Given the description of an element on the screen output the (x, y) to click on. 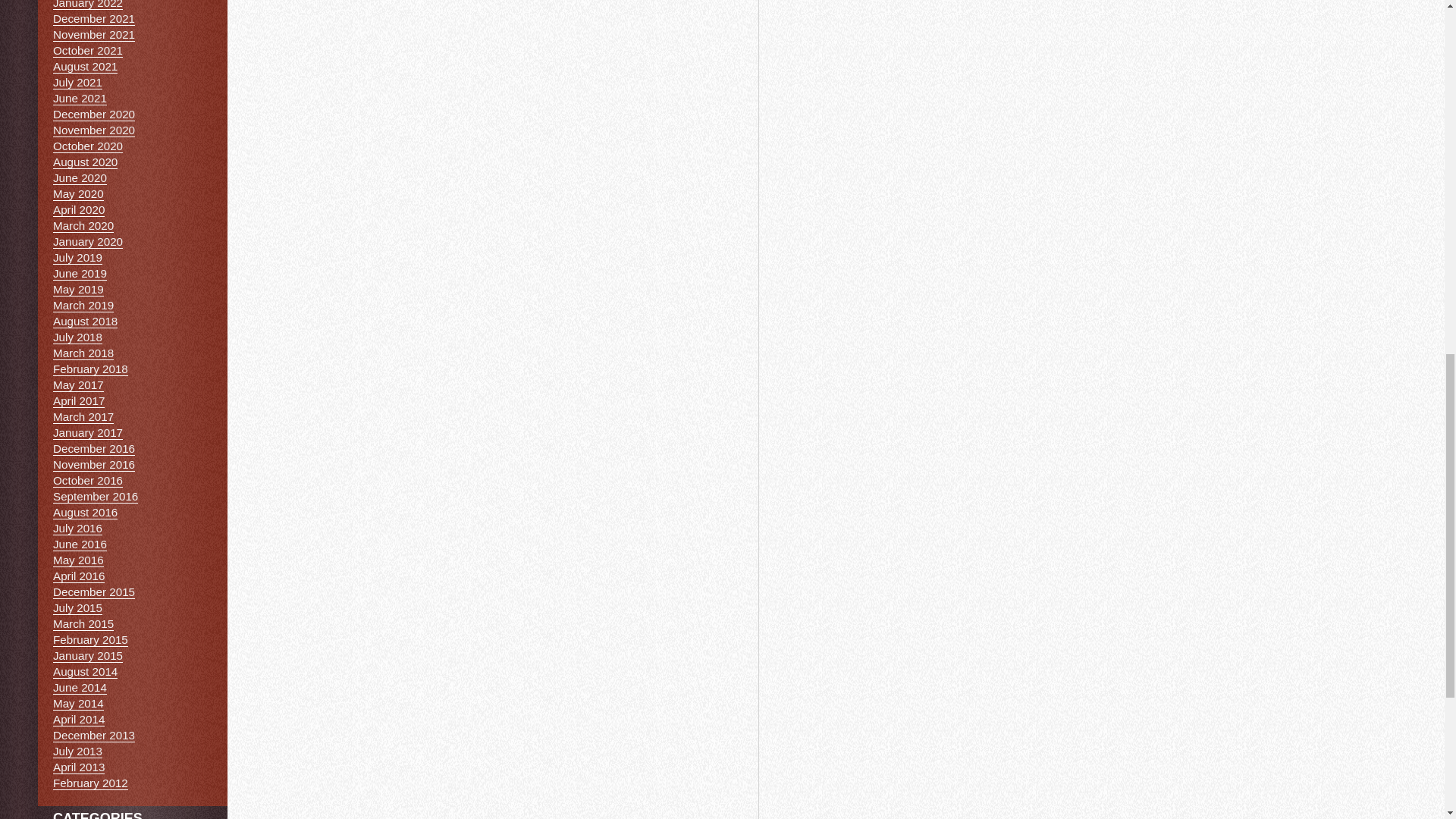
January 2022 (87, 4)
October 2021 (87, 50)
December 2021 (93, 18)
August 2021 (84, 66)
November 2021 (93, 34)
